Given the description of an element on the screen output the (x, y) to click on. 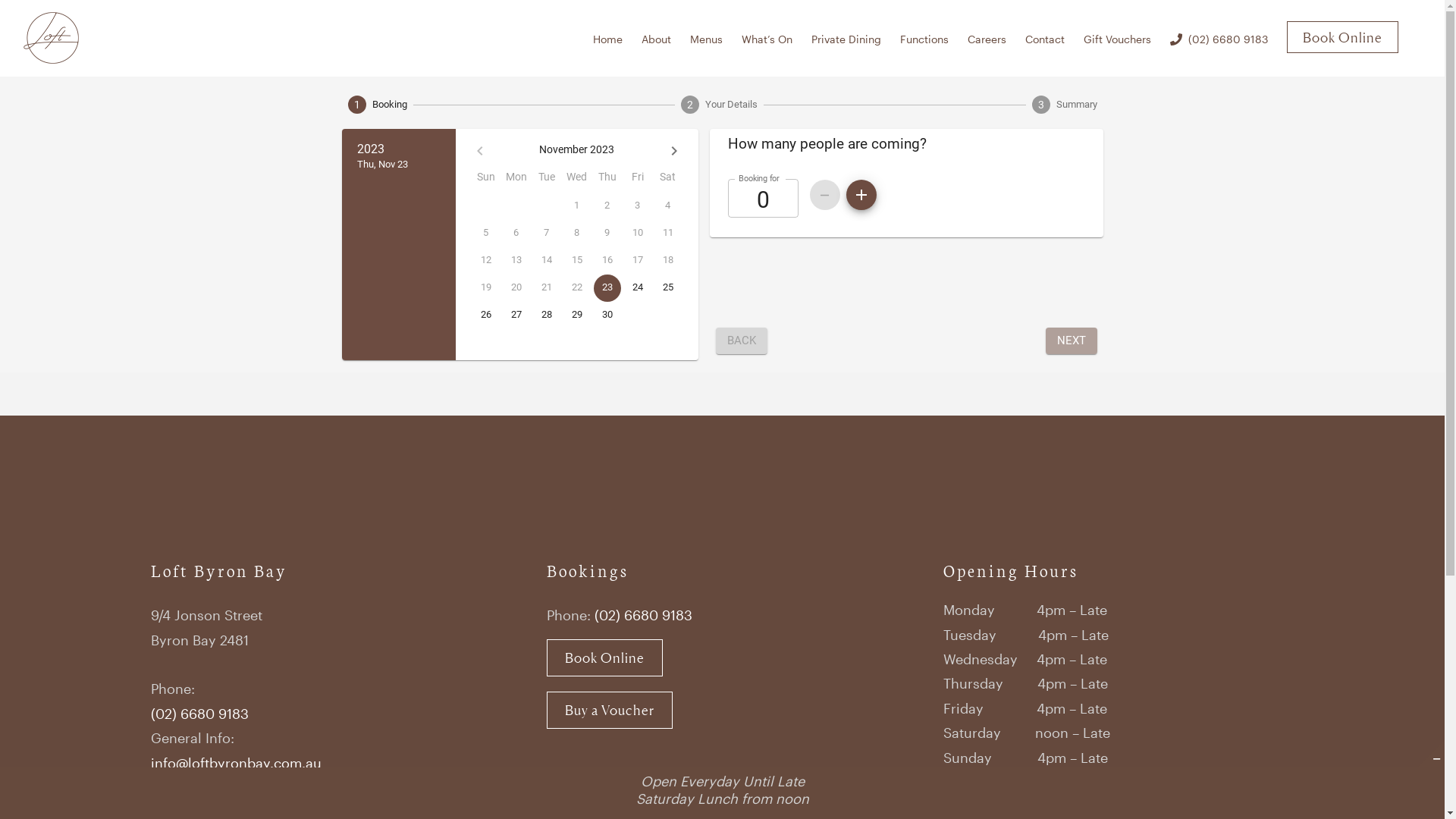
(02) 6680 9183 Element type: text (643, 614)
Home Element type: text (607, 38)
Private Dining Element type: text (846, 38)
Careers Element type: text (986, 38)
(02) 6680 9183 Element type: text (198, 713)
Gift Vouchers Element type: text (1117, 38)
Book Online Element type: text (1342, 38)
info@loftbyronbay.com.au Element type: text (235, 762)
Menus Element type: text (706, 38)
Contact Element type: text (1044, 38)
Functions Element type: text (924, 38)
Toggle Sliding Bar Area Element type: text (1430, 753)
(02) 6680 9183 Element type: text (1218, 38)
Book Online Element type: text (604, 657)
Buy a Voucher Element type: text (609, 709)
About Element type: text (656, 38)
